Given the description of an element on the screen output the (x, y) to click on. 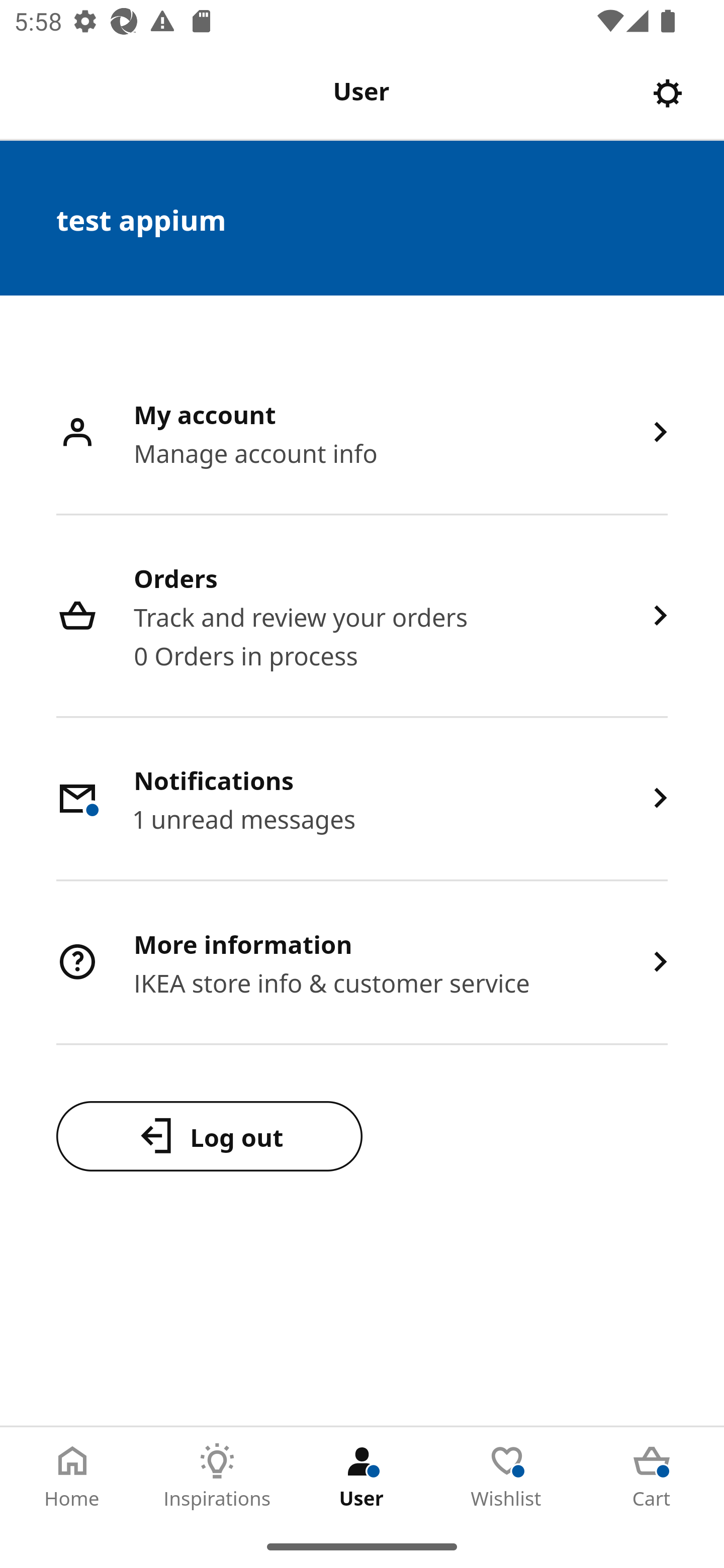
My account
Manage account info (361, 433)
Notifications
1 unread messages (361, 799)
Log out (209, 1135)
Home
Tab 1 of 5 (72, 1476)
Inspirations
Tab 2 of 5 (216, 1476)
User
Tab 3 of 5 (361, 1476)
Wishlist
Tab 4 of 5 (506, 1476)
Cart
Tab 5 of 5 (651, 1476)
